Given the description of an element on the screen output the (x, y) to click on. 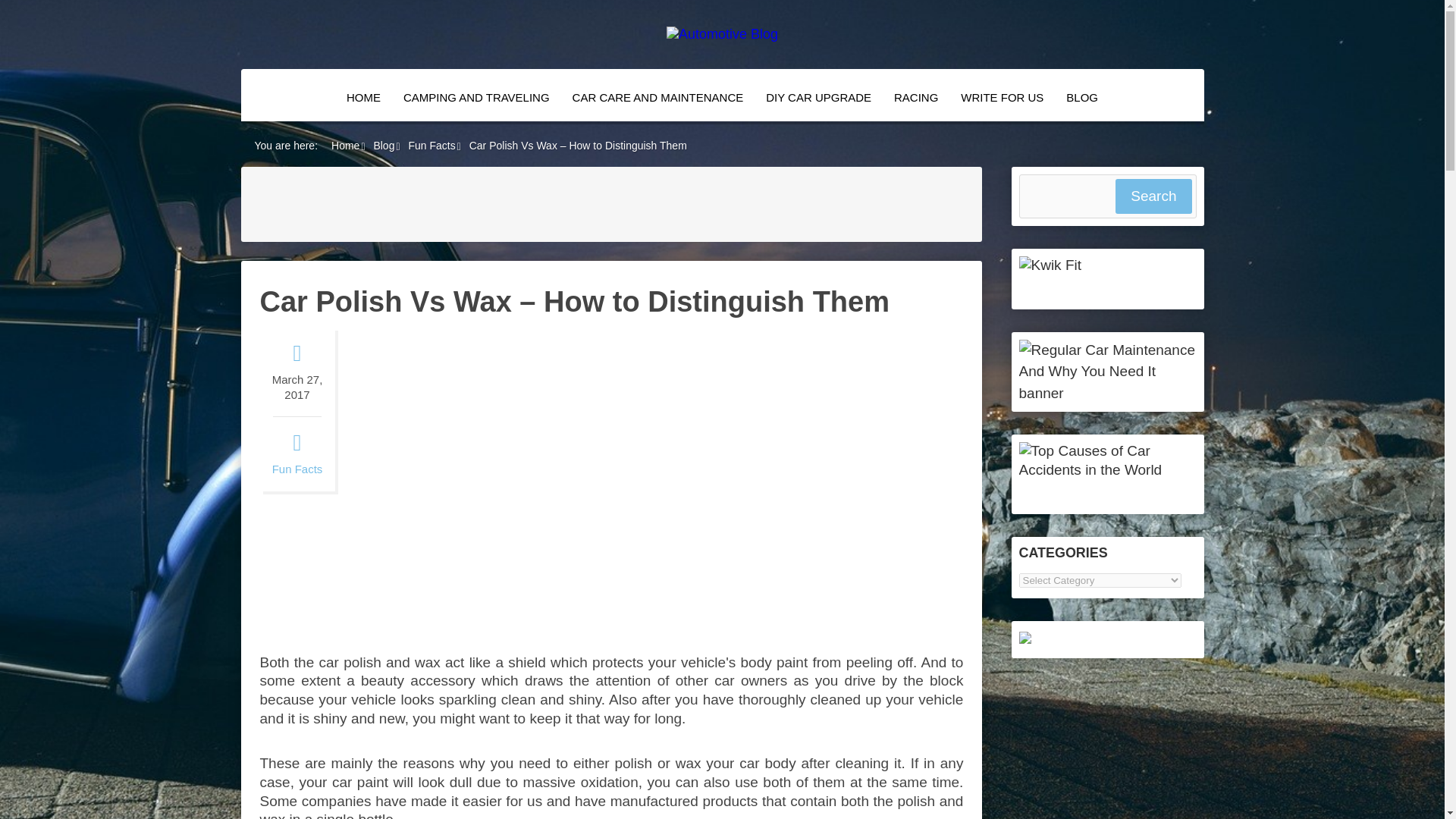
BLOG (1081, 97)
Top Causes of Car Accidents in the World (1107, 469)
Home (345, 145)
HOME (363, 97)
DIY CAR UPGRADE (817, 97)
RACING (915, 97)
Regular Car Maintenance And Why You Need It (1107, 392)
Kwik Fit (1050, 264)
CAR CARE AND MAINTENANCE (658, 97)
Fun Facts (297, 468)
